Given the description of an element on the screen output the (x, y) to click on. 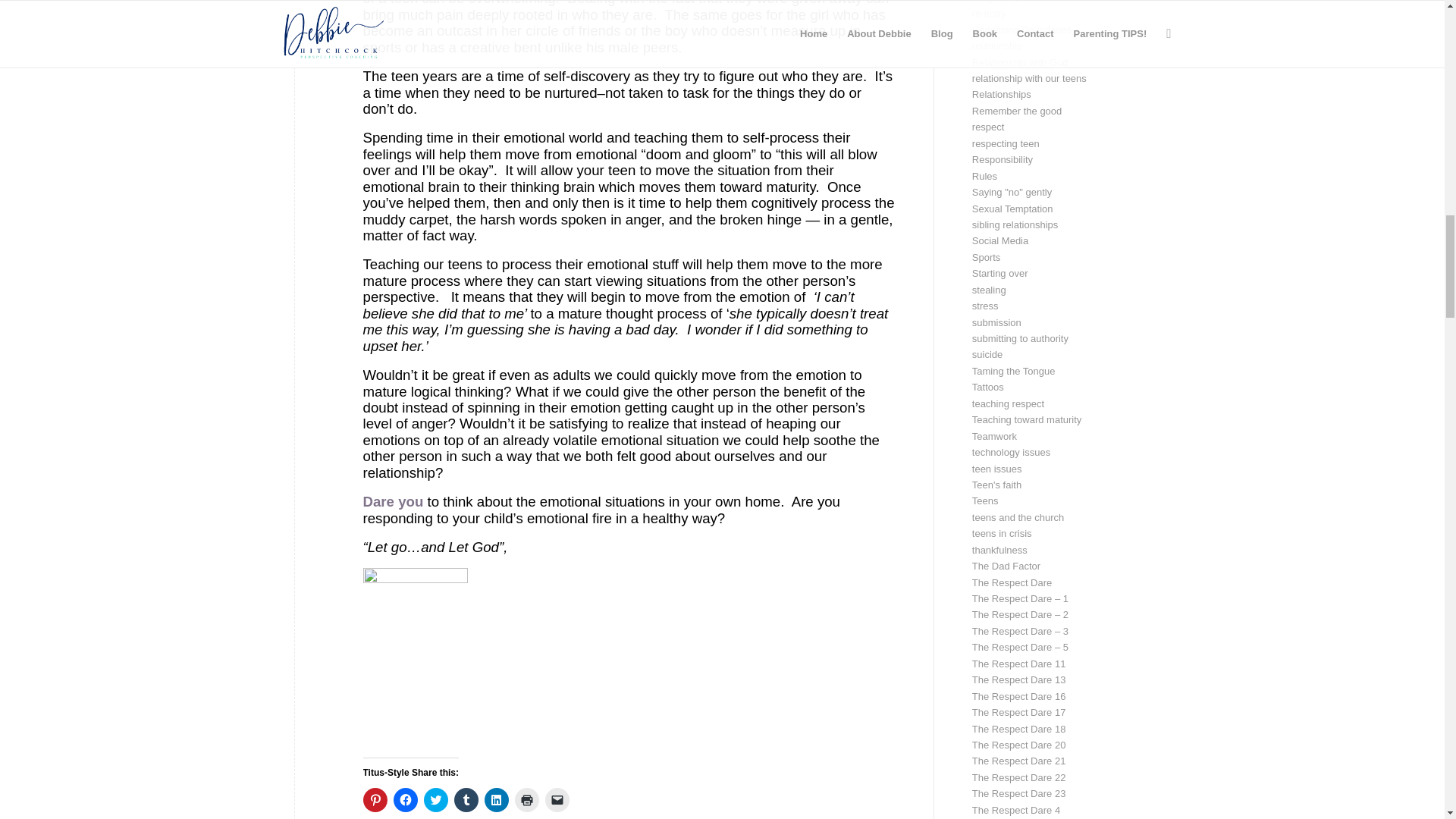
Click to print (525, 799)
Click to email a link to a friend (556, 799)
Click to share on Facebook (404, 799)
Click to share on Twitter (434, 799)
Click to share on LinkedIn (495, 799)
Click to share on Tumblr (464, 799)
Click to share on Pinterest (374, 799)
